Given the description of an element on the screen output the (x, y) to click on. 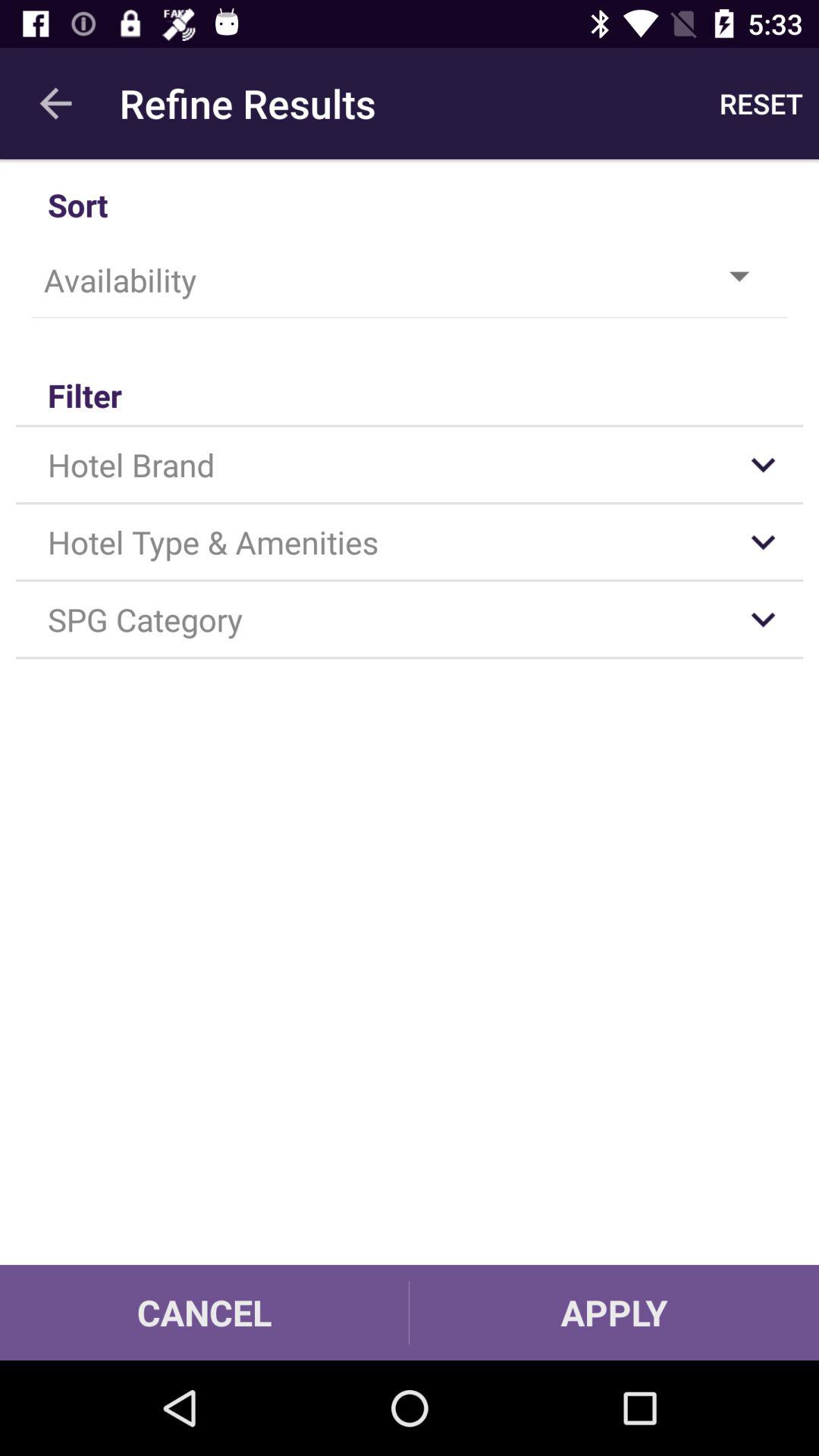
click the item below the spg category item (204, 1312)
